Given the description of an element on the screen output the (x, y) to click on. 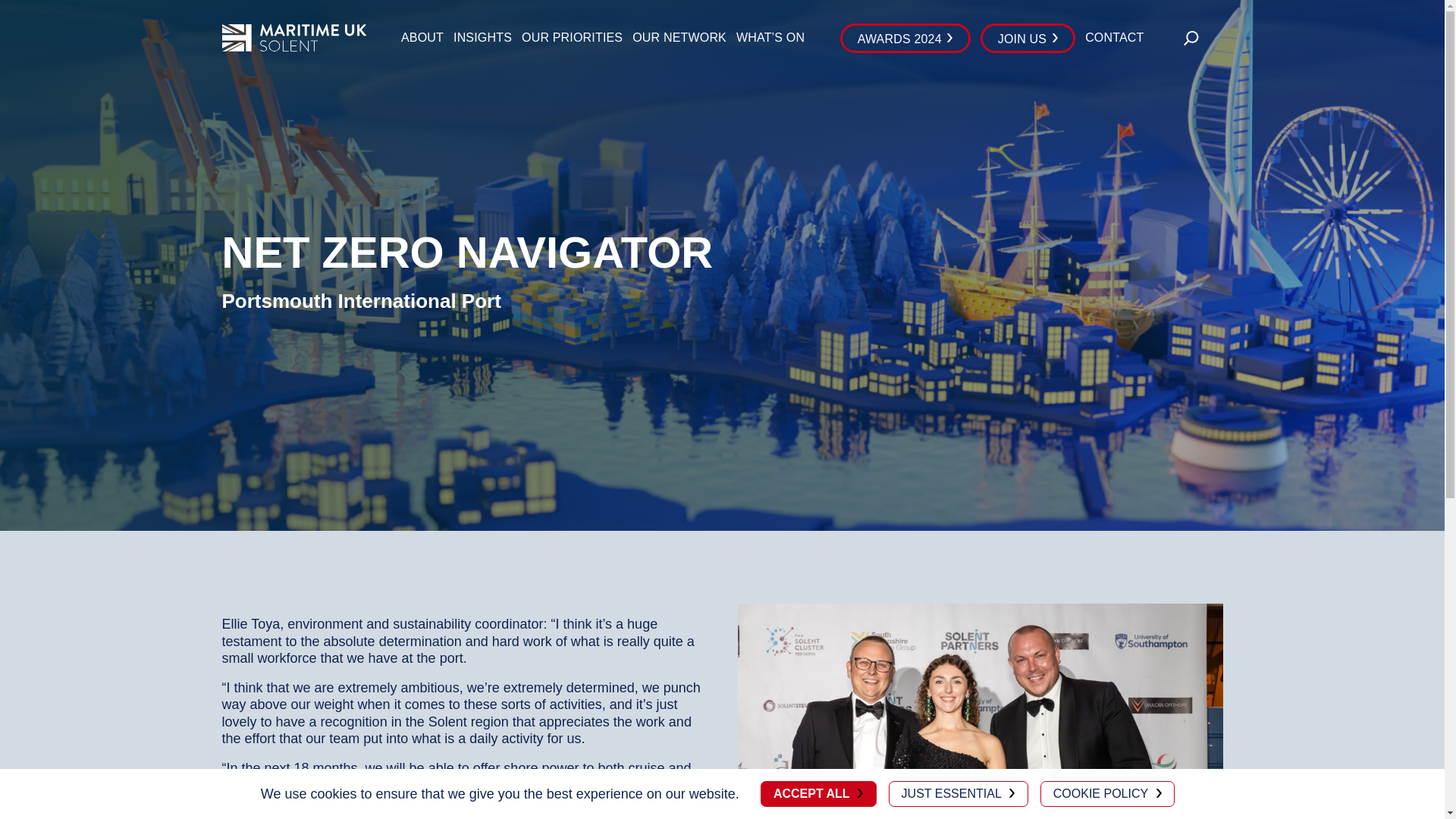
Insights (482, 37)
Contact (1113, 37)
OUR PRIORITIES (572, 37)
JOIN US (1027, 37)
ABOUT (422, 37)
What's on (770, 37)
OUR NETWORK (678, 37)
CONTACT (1113, 37)
Our Priorities (572, 37)
INSIGHTS (482, 37)
AWARDS 2024 (905, 37)
Join us (905, 37)
About (422, 37)
Join us (1027, 37)
